Given the description of an element on the screen output the (x, y) to click on. 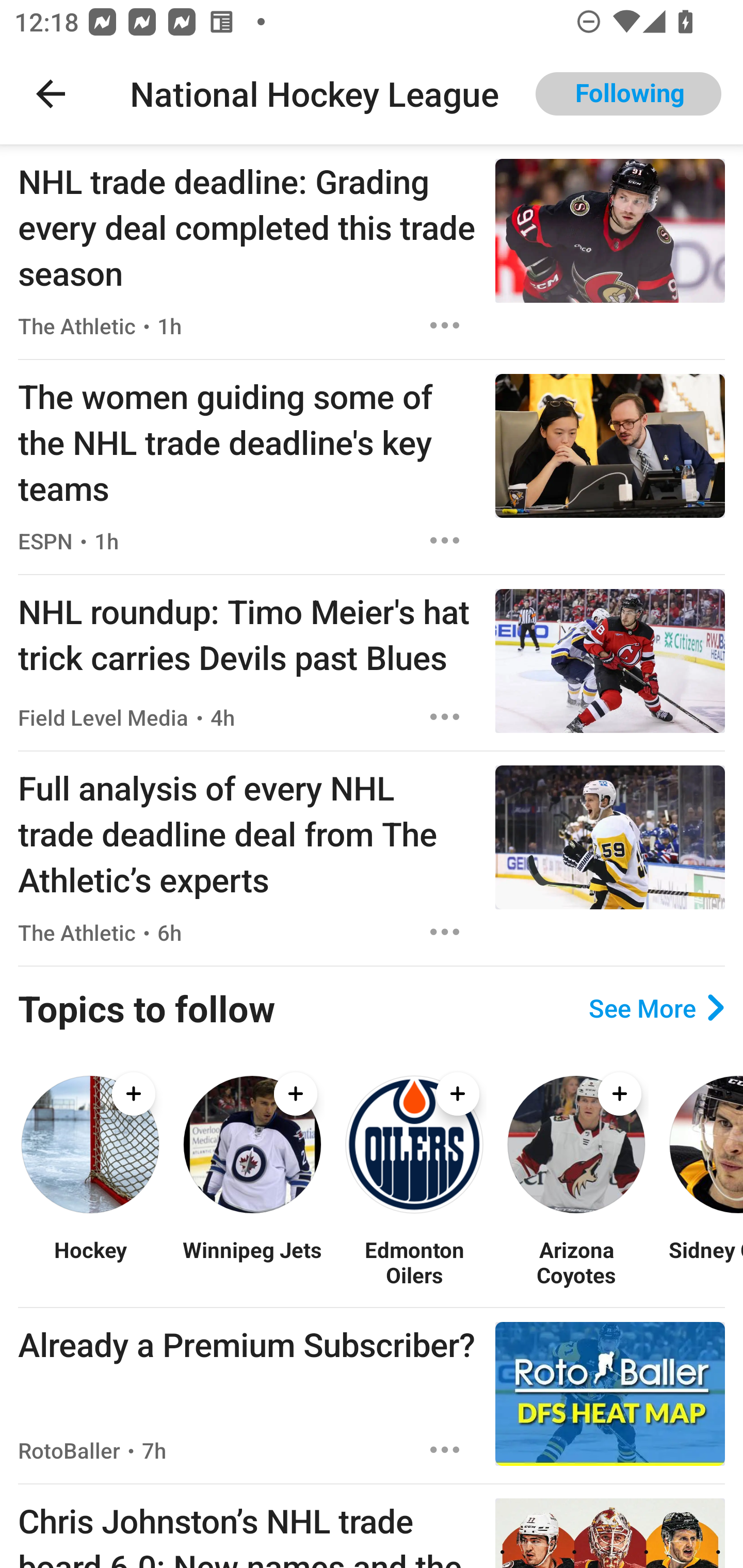
Navigate up (50, 93)
Following (628, 94)
Options (444, 325)
Options (444, 540)
Options (444, 716)
Options (444, 932)
See More (656, 1007)
Hockey (89, 1261)
Winnipeg Jets (251, 1261)
Edmonton Oilers (413, 1261)
Arizona Coyotes (575, 1261)
Options (444, 1449)
